Given the description of an element on the screen output the (x, y) to click on. 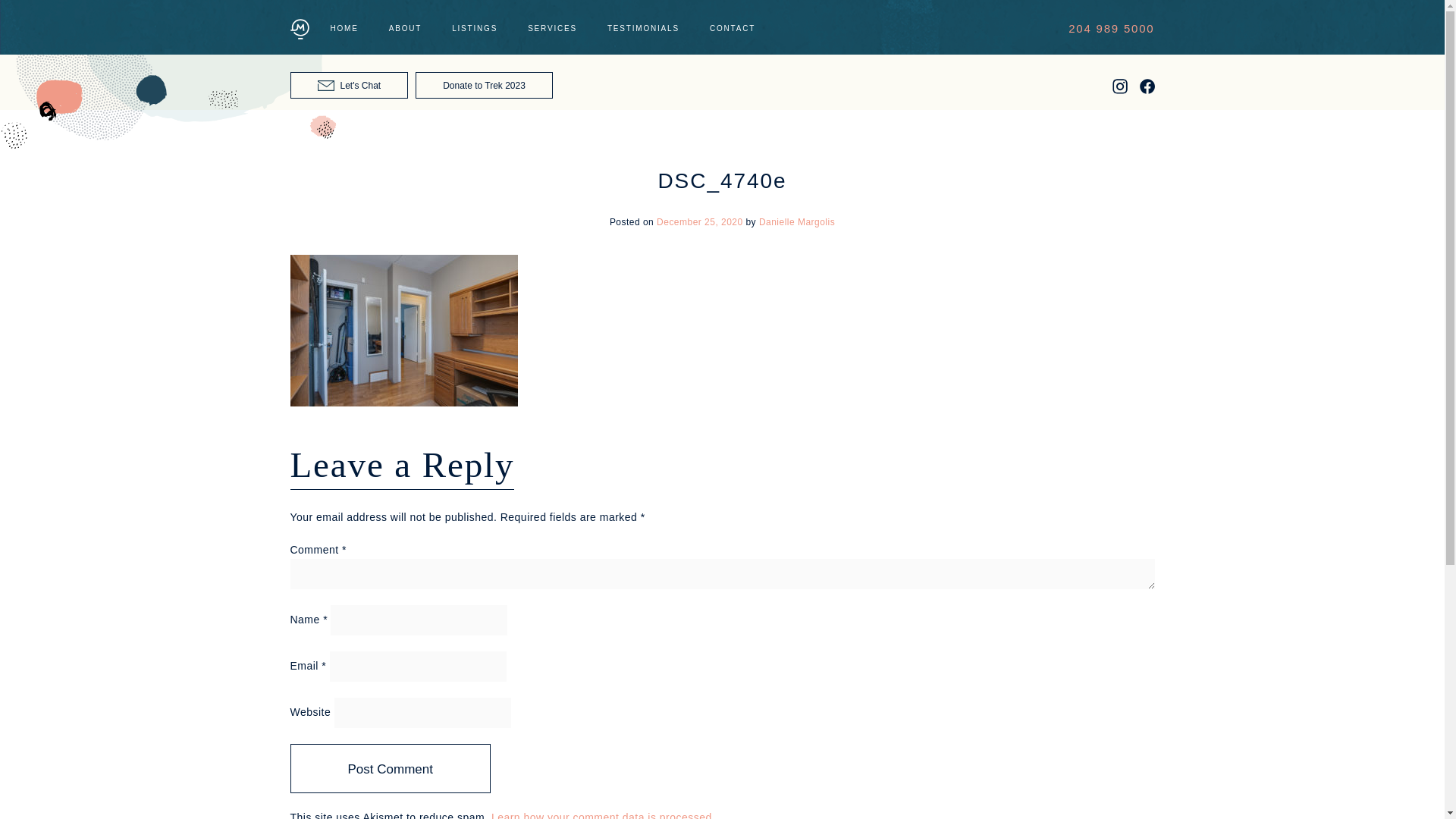
ABOUT (405, 28)
CONTACT (732, 28)
Let's Chat (348, 85)
Danielle Margolis (796, 222)
Post Comment (389, 768)
Post Comment (389, 768)
LISTINGS (474, 28)
Learn how your comment data is processed (601, 815)
Facebook (1146, 90)
TESTIMONIALS (643, 28)
Donate to Trek 2023 (483, 85)
204 989 5000 (1111, 28)
December 25, 2020 (699, 222)
HOME (344, 28)
Instagram (1119, 90)
